Given the description of an element on the screen output the (x, y) to click on. 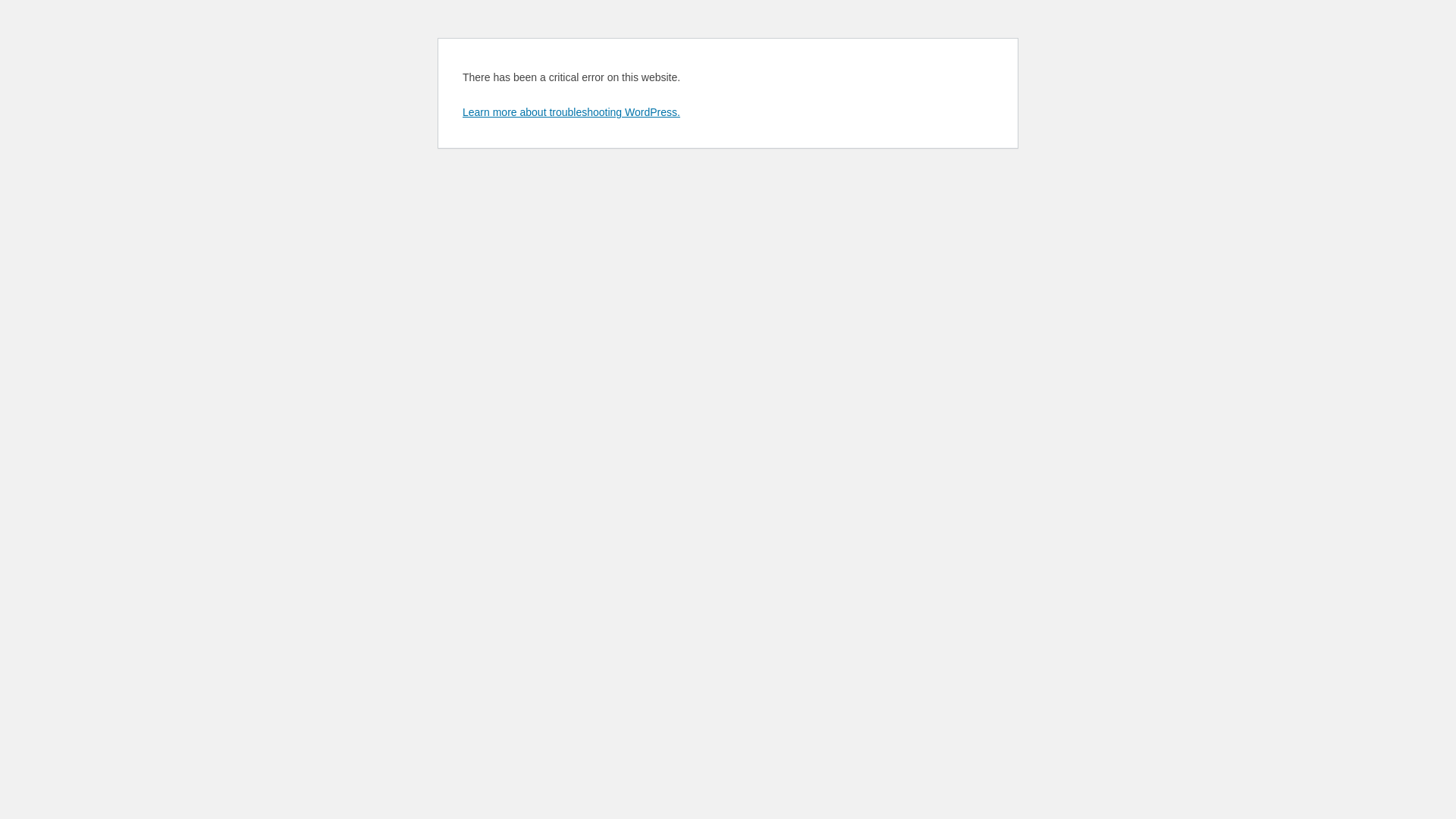
Learn more about troubleshooting WordPress. Element type: text (571, 112)
